Given the description of an element on the screen output the (x, y) to click on. 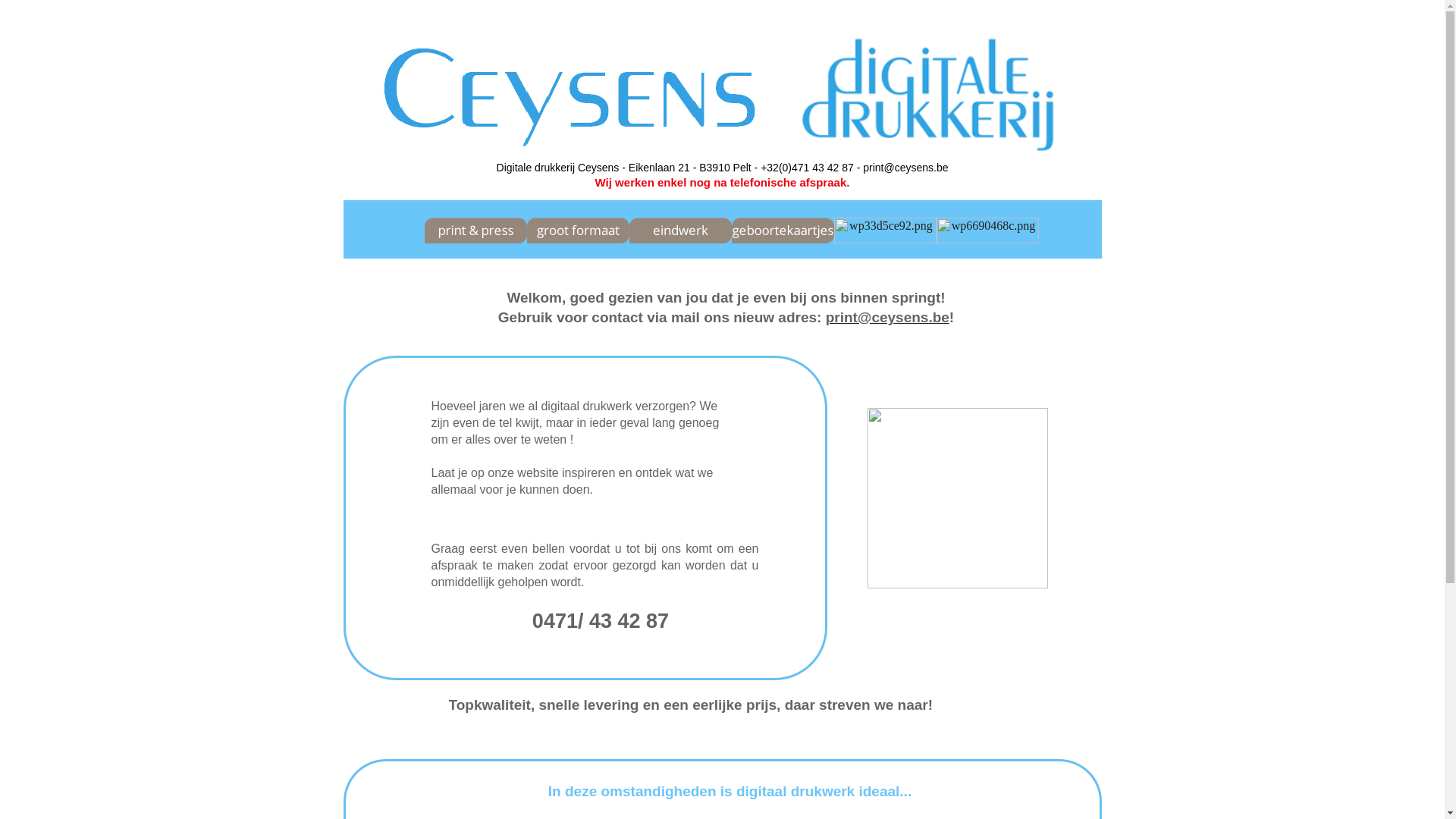
print@ceysens.be Element type: text (887, 317)
